Given the description of an element on the screen output the (x, y) to click on. 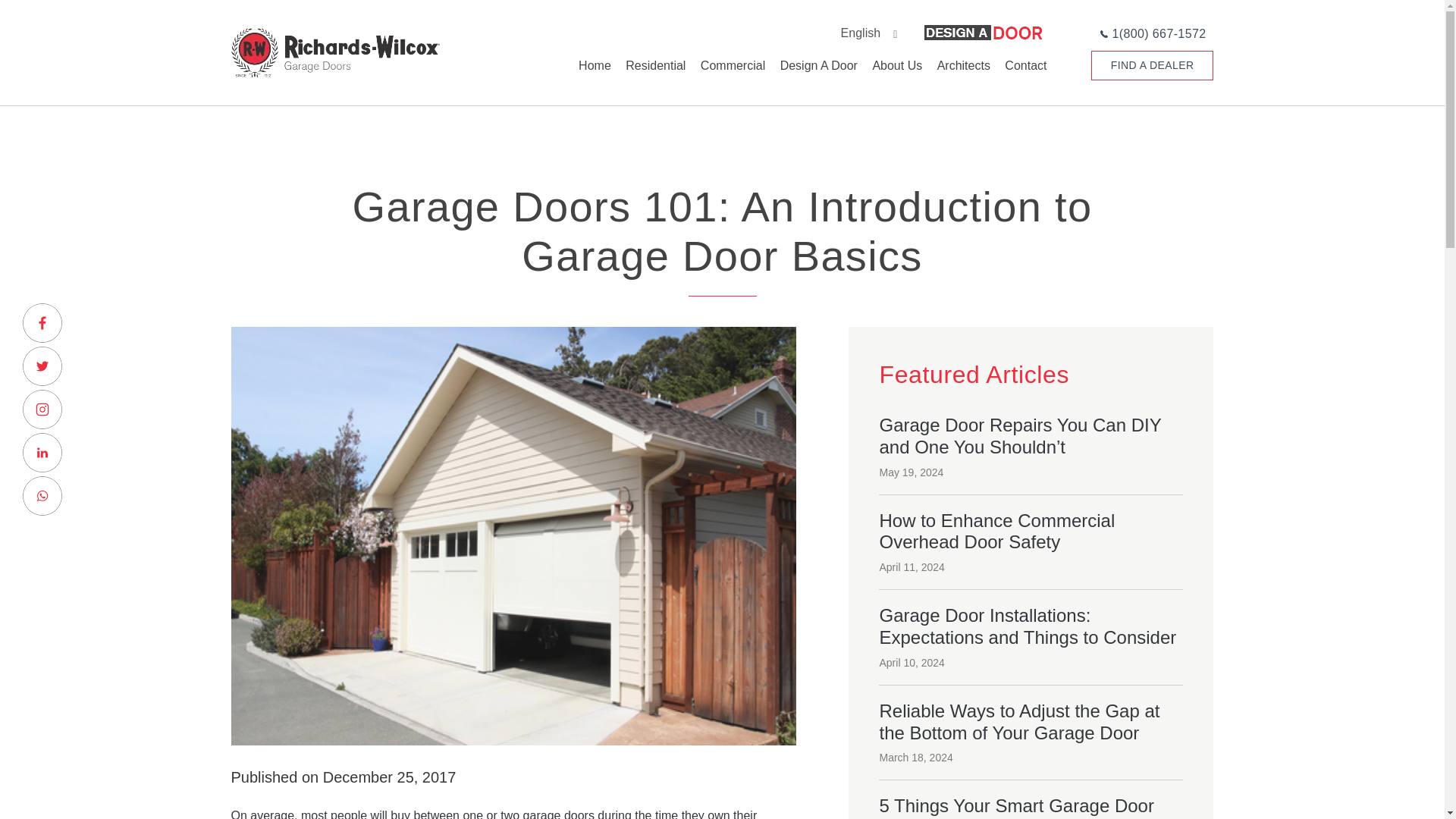
Residential (649, 76)
Commercial (726, 76)
English (810, 32)
About Us (890, 76)
Design A Door (812, 76)
Home (589, 76)
